Given the description of an element on the screen output the (x, y) to click on. 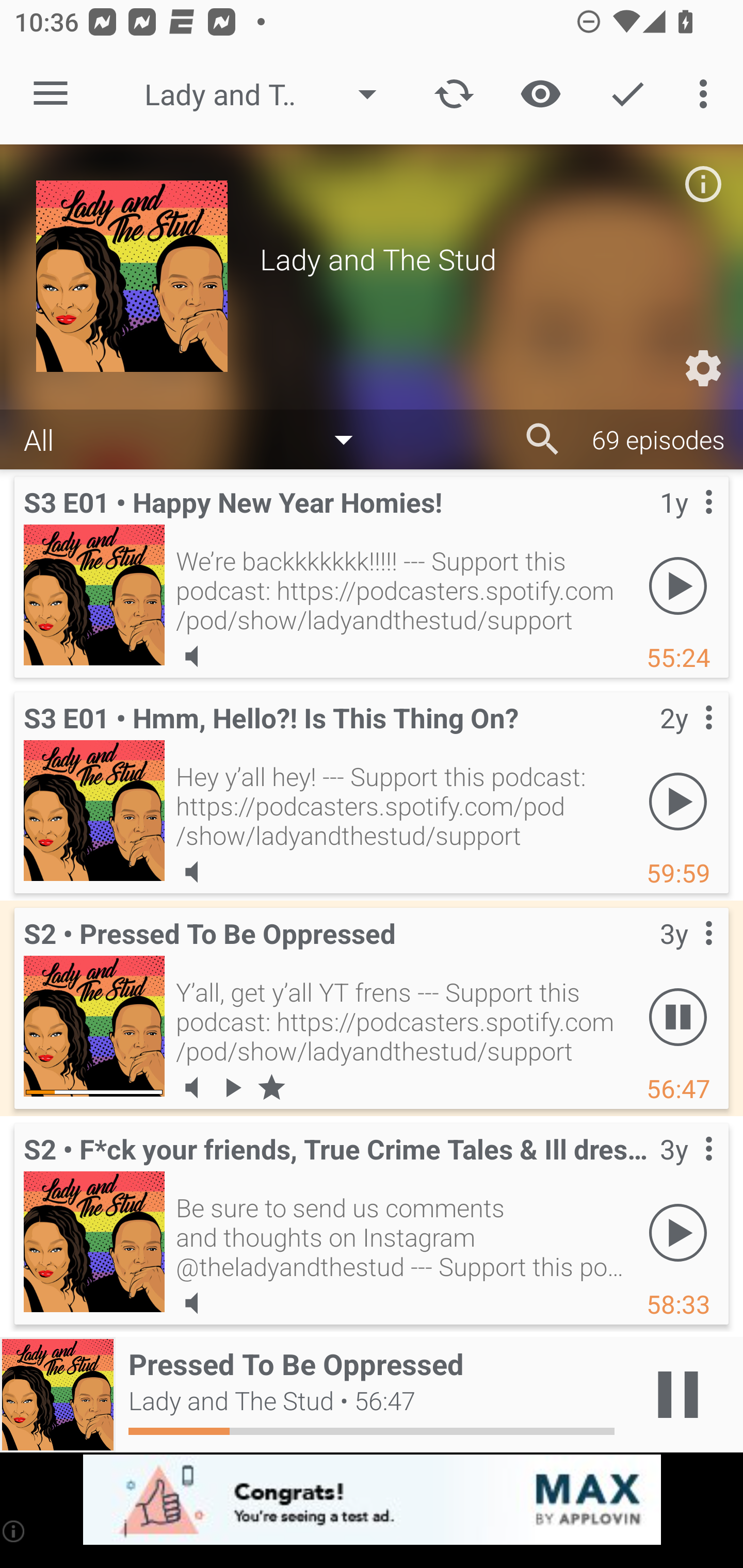
Open navigation sidebar (50, 93)
Update (453, 93)
Show / Hide played content (540, 93)
Action Mode (626, 93)
More options (706, 93)
Lady and The Stud (270, 94)
Podcast description (703, 184)
Custom Settings (703, 368)
Search (542, 439)
All (197, 438)
Contextual menu (685, 522)
Happy New Year Homies! (93, 594)
Play (677, 585)
Contextual menu (685, 738)
Hmm, Hello?! Is This Thing On? (93, 810)
Play (677, 801)
Contextual menu (685, 954)
Pressed To Be Oppressed (93, 1026)
Pause (677, 1016)
Contextual menu (685, 1169)
Play (677, 1232)
Play / Pause (677, 1394)
app-monetization (371, 1500)
(i) (14, 1531)
